Given the description of an element on the screen output the (x, y) to click on. 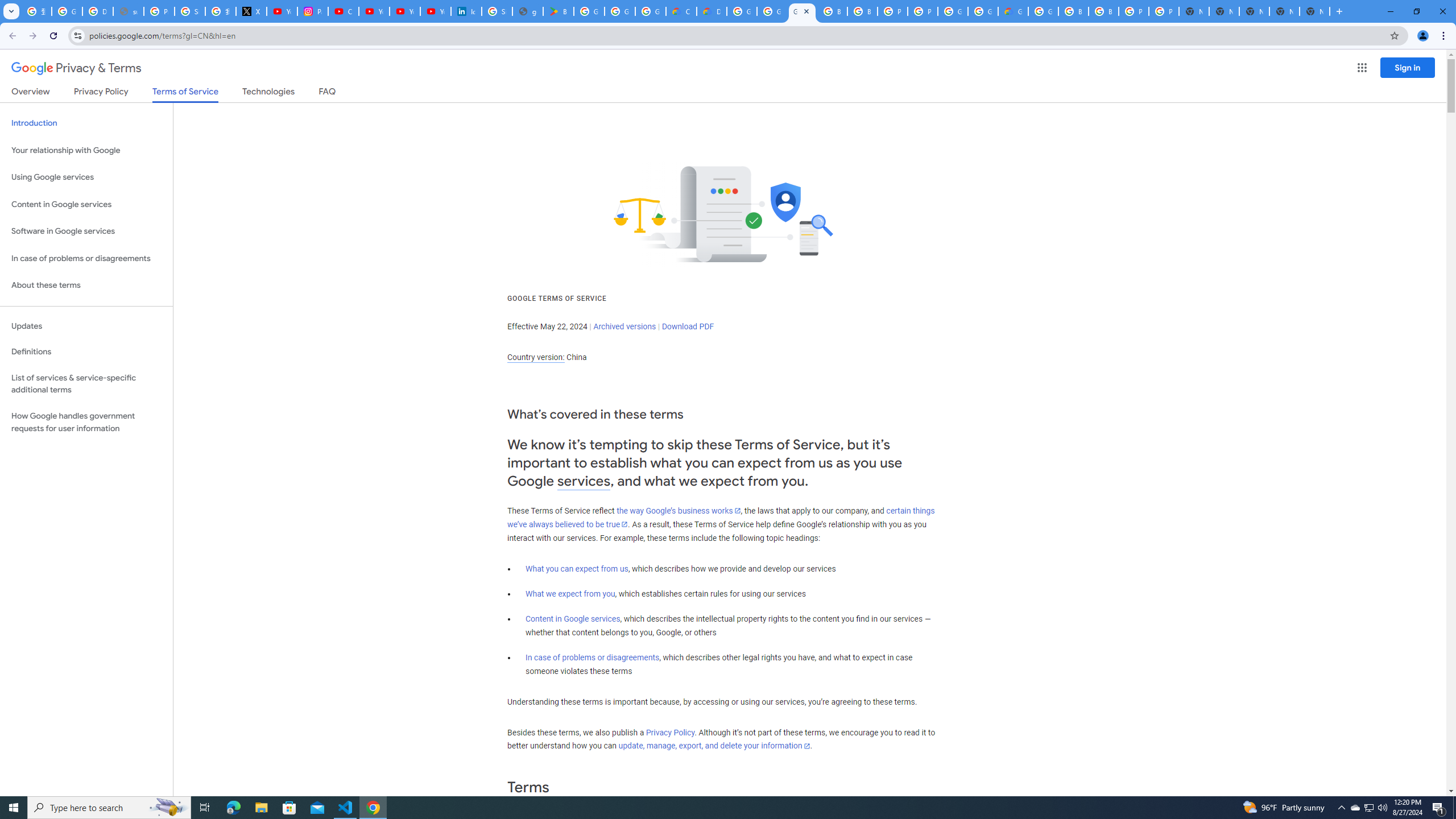
Browse Chrome as a guest - Computer - Google Chrome Help (832, 11)
Software in Google services (86, 230)
What you can expect from us (576, 568)
Sign in - Google Accounts (189, 11)
X (251, 11)
What we expect from you (570, 593)
New Tab (1314, 11)
YouTube Culture & Trends - YouTube Top 10, 2021 (434, 11)
